Given the description of an element on the screen output the (x, y) to click on. 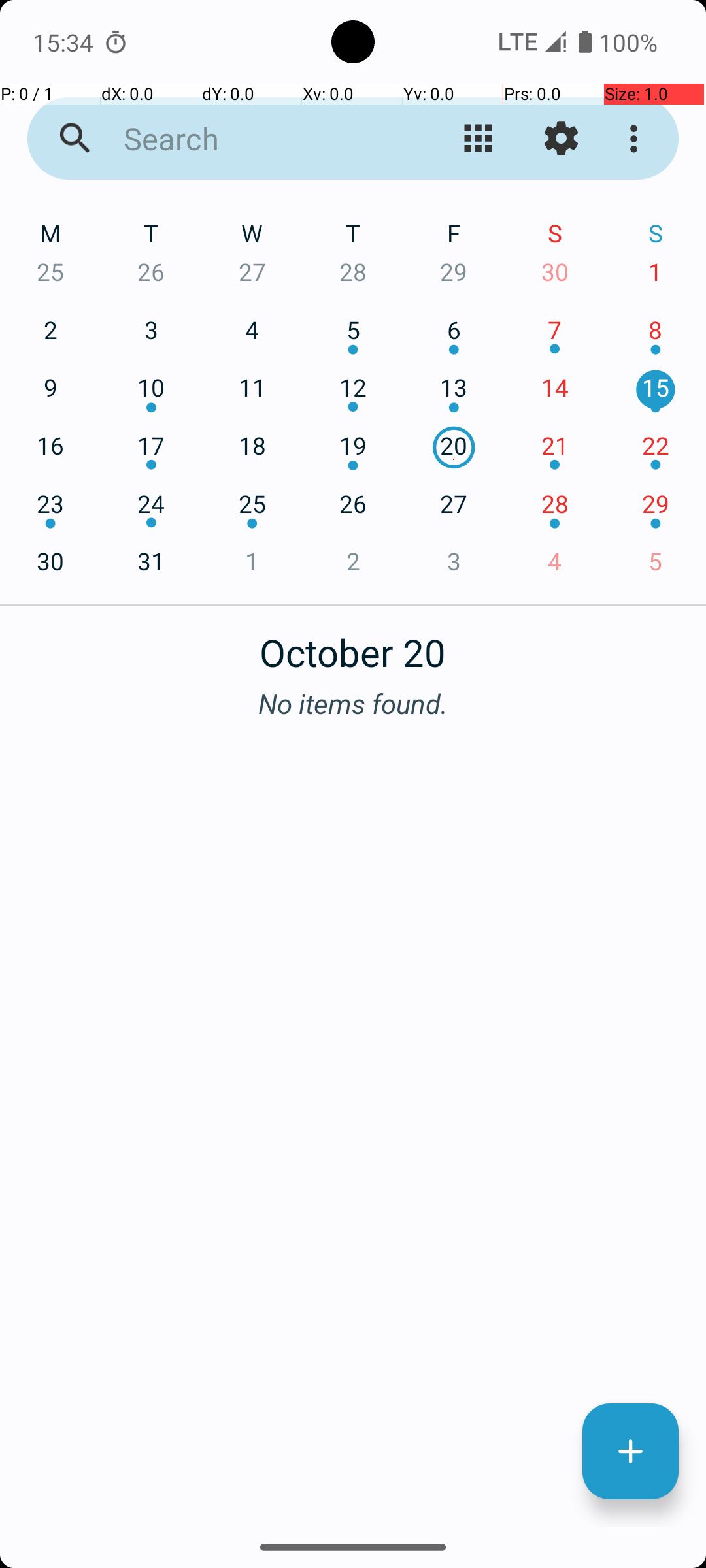
October 20 Element type: android.widget.TextView (352, 644)
